Given the description of an element on the screen output the (x, y) to click on. 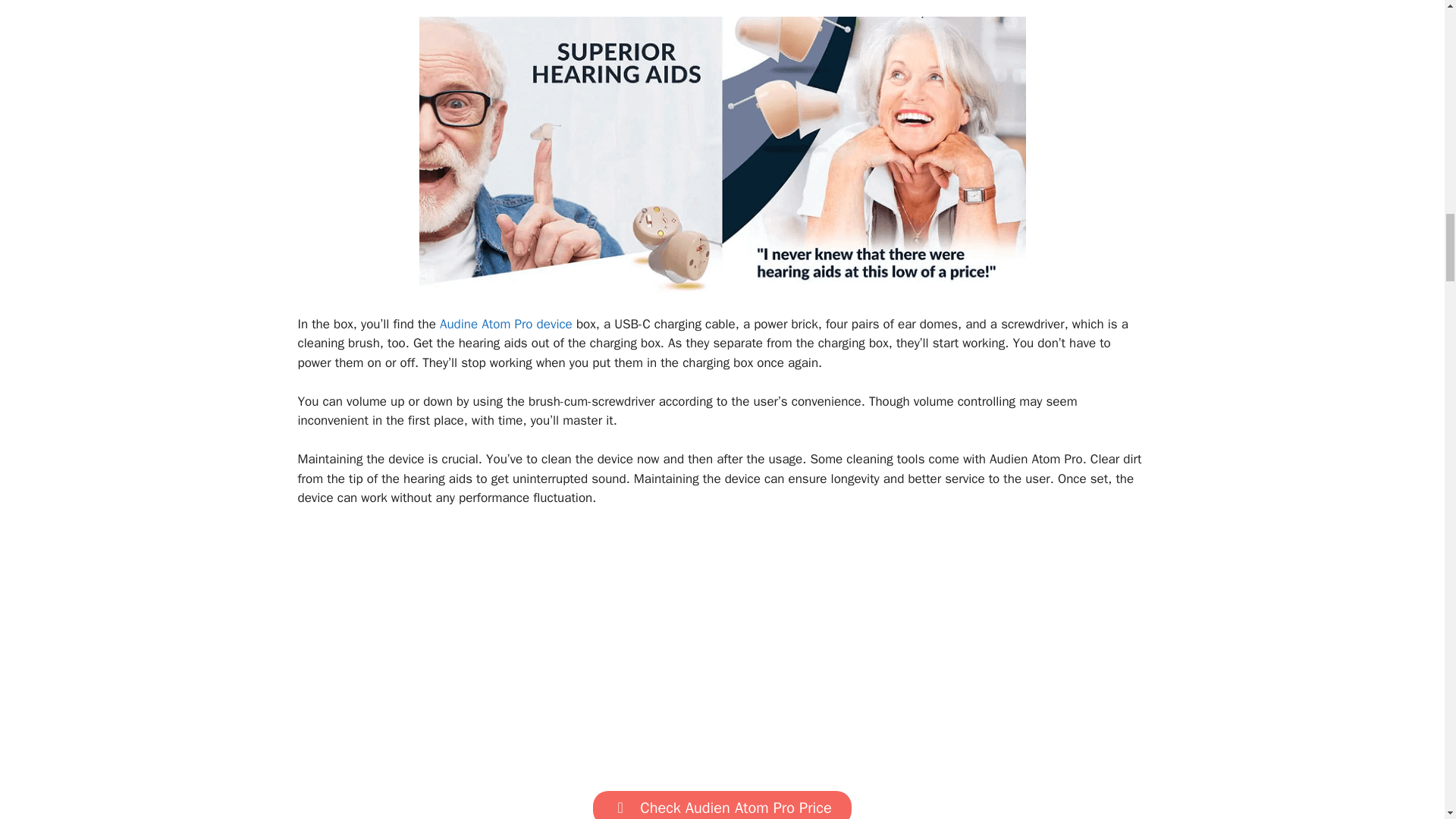
Audine Atom Pro device (505, 324)
YouTube video player (721, 646)
Check Audien Atom Pro Price (721, 805)
